Given the description of an element on the screen output the (x, y) to click on. 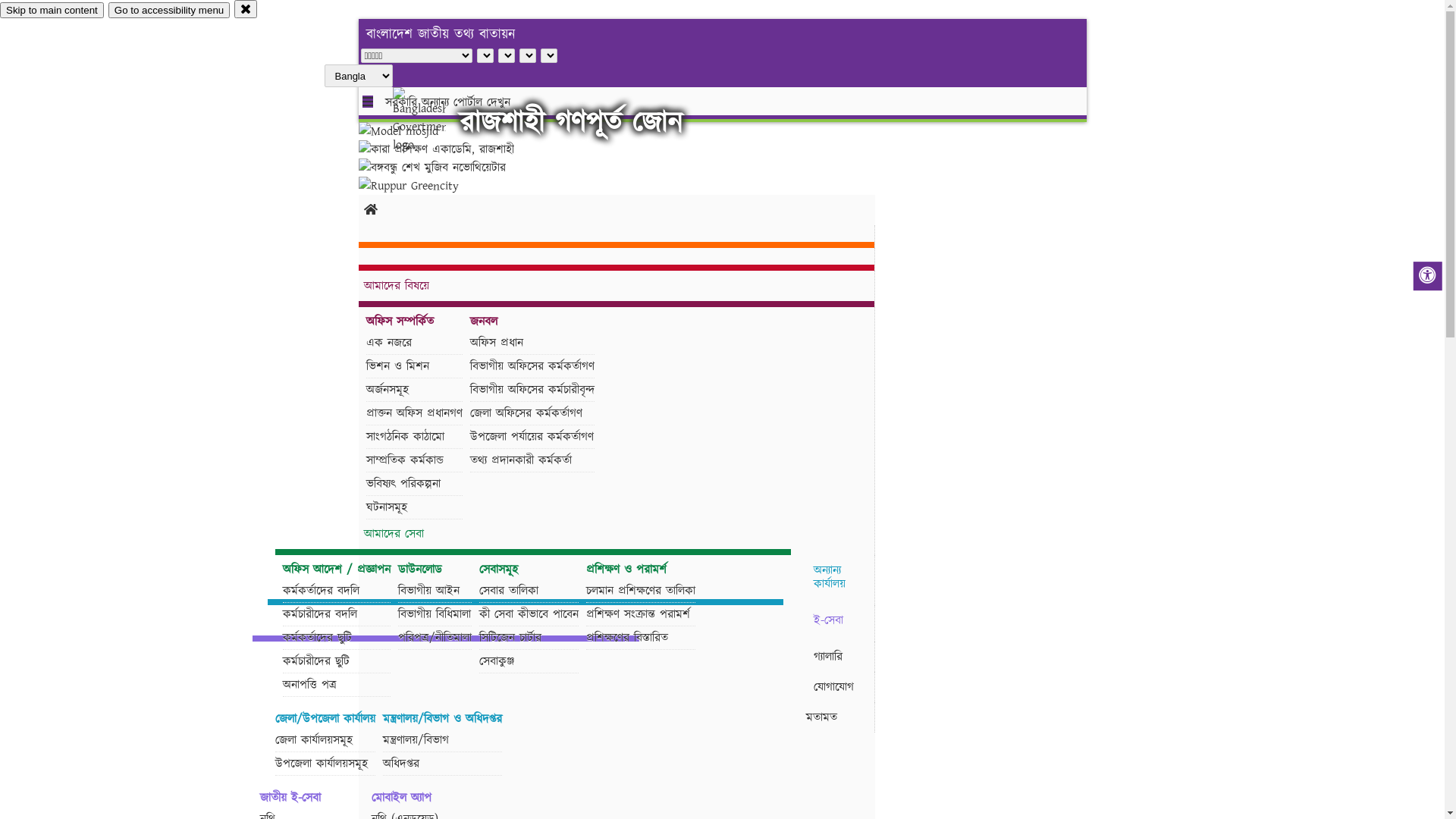

                
             Element type: hover (431, 120)
Skip to main content Element type: text (51, 10)
close Element type: hover (245, 9)
Go to accessibility menu Element type: text (168, 10)
